Given the description of an element on the screen output the (x, y) to click on. 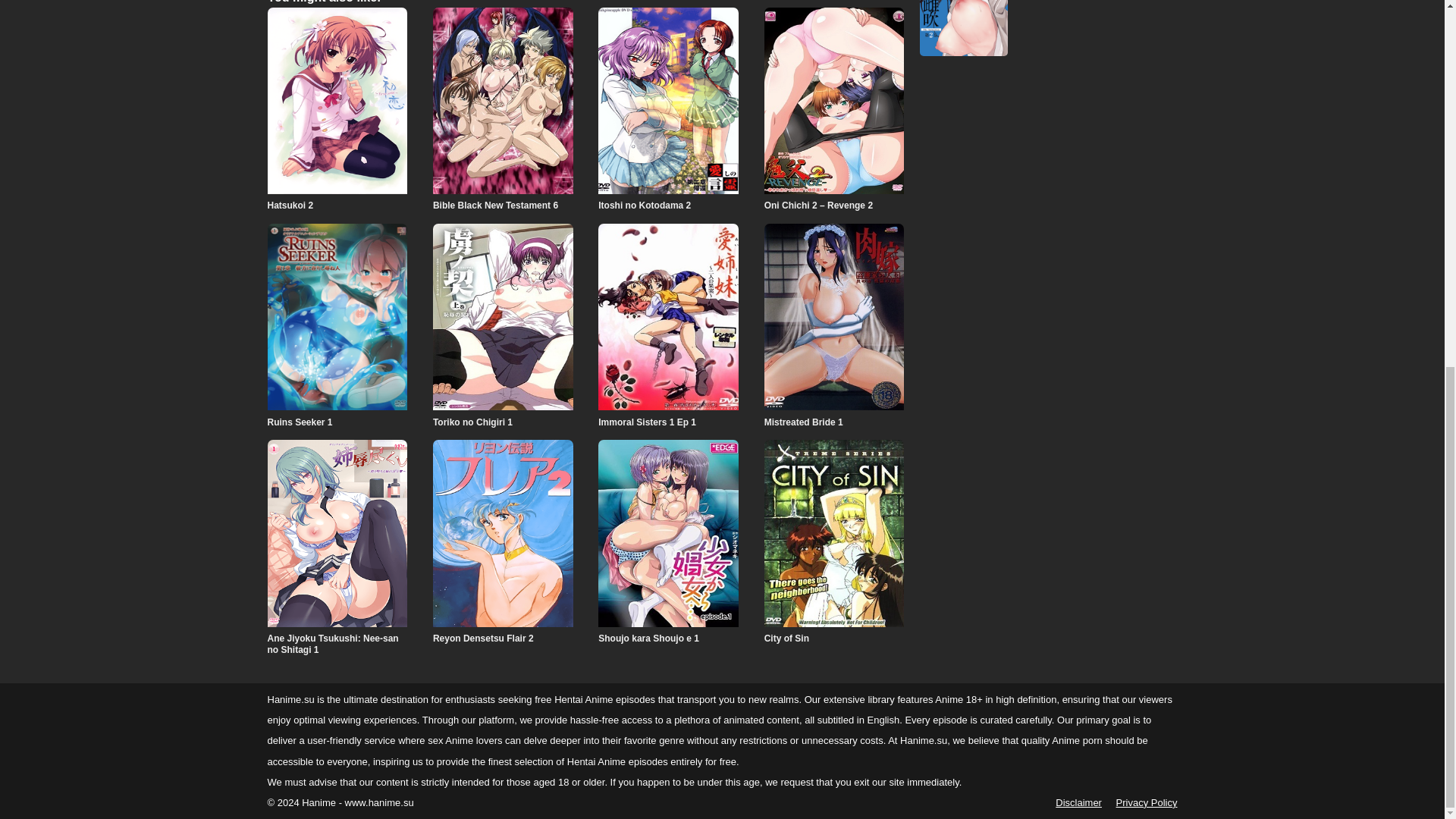
Mebuki 2 (962, 27)
